Given the description of an element on the screen output the (x, y) to click on. 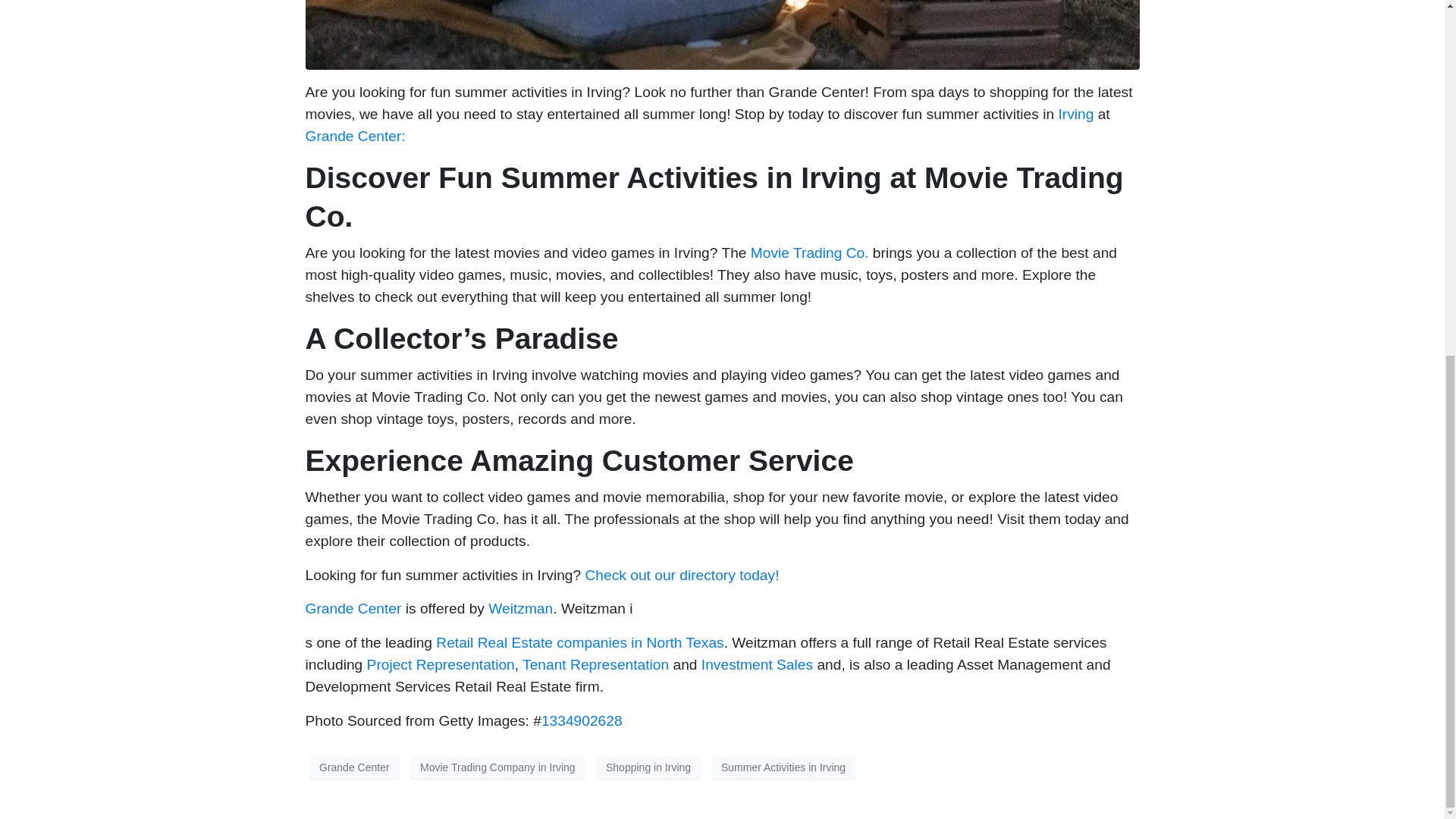
Check out our directory today!  (684, 575)
Retail Real Estate companies in North Texas (579, 642)
Movie Trading Company in Irving (497, 766)
1334902628 (582, 720)
Grande Center (352, 608)
Movie Trading Co. (810, 252)
Summer Activities in Irving (783, 766)
Investment Sales (756, 664)
Grande Center: (354, 135)
Weitzman (520, 608)
Grande Center (353, 766)
Irving (1075, 114)
Shopping in Irving (647, 766)
Project Representation (440, 664)
Tenant Representation (595, 664)
